Given the description of an element on the screen output the (x, y) to click on. 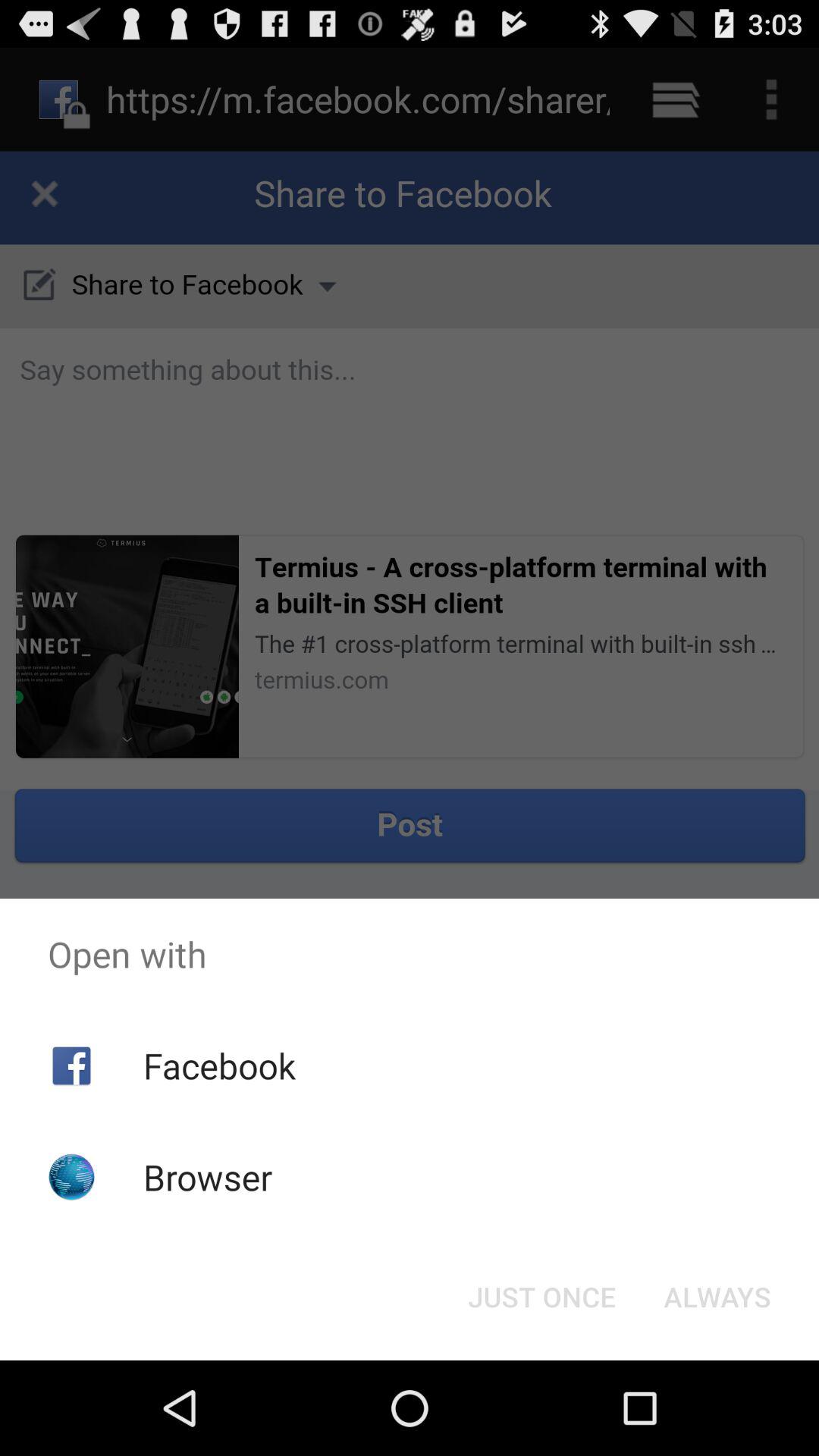
launch the icon above browser app (219, 1065)
